Given the description of an element on the screen output the (x, y) to click on. 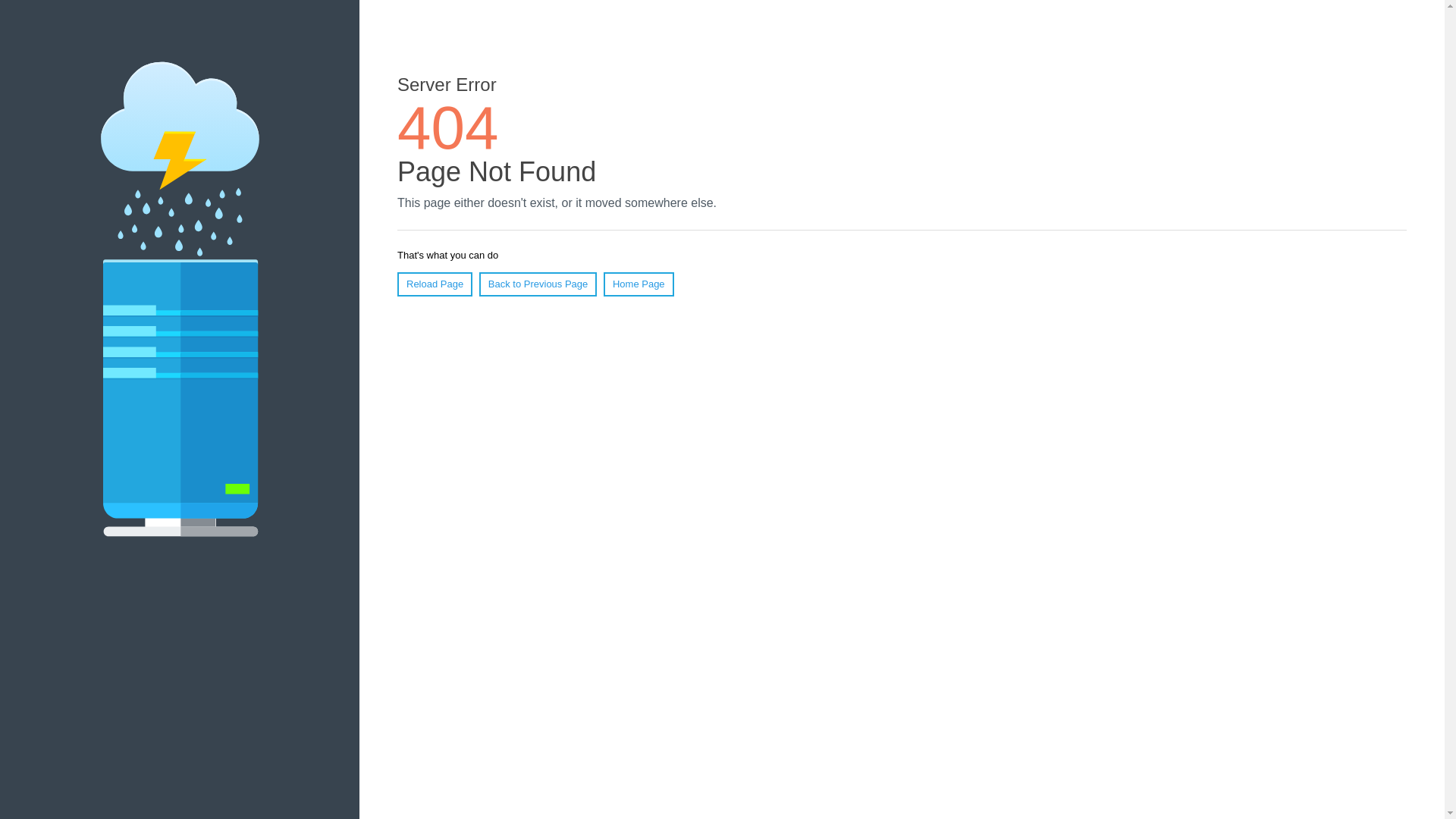
Home Page Element type: text (638, 284)
Back to Previous Page Element type: text (538, 284)
Reload Page Element type: text (434, 284)
